Given the description of an element on the screen output the (x, y) to click on. 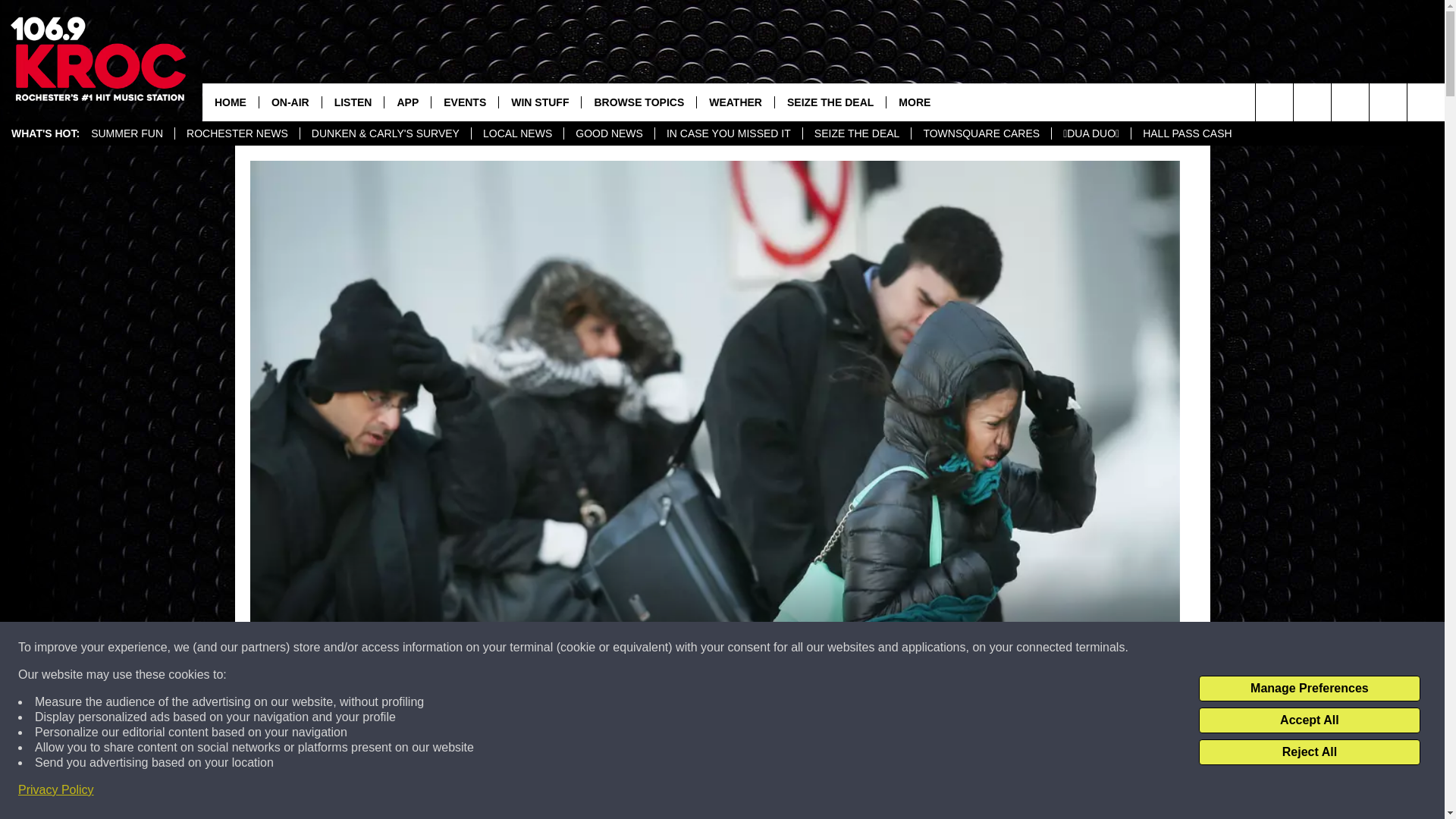
ON-AIR (290, 102)
LISTEN (352, 102)
Accept All (1309, 720)
HALL PASS CASH (1187, 133)
Reject All (1309, 751)
HOME (230, 102)
GOOD NEWS (608, 133)
SUMMER FUN (127, 133)
ROCHESTER NEWS (236, 133)
SEIZE THE DEAL (856, 133)
Share on Twitter (912, 791)
LOCAL NEWS (516, 133)
Share on Facebook (517, 791)
TOWNSQUARE CARES (981, 133)
Manage Preferences (1309, 688)
